Given the description of an element on the screen output the (x, y) to click on. 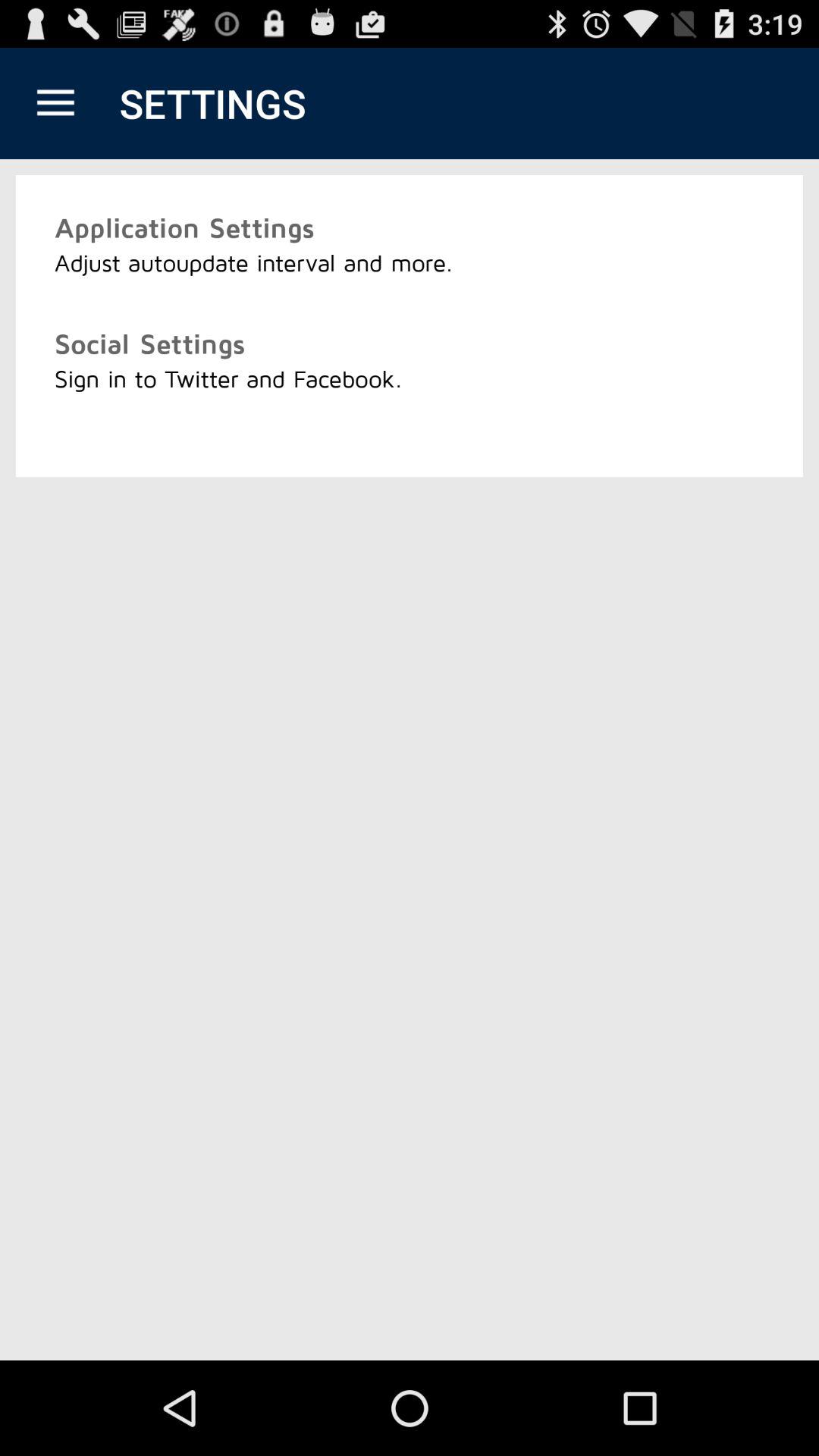
menu options (55, 103)
